Given the description of an element on the screen output the (x, y) to click on. 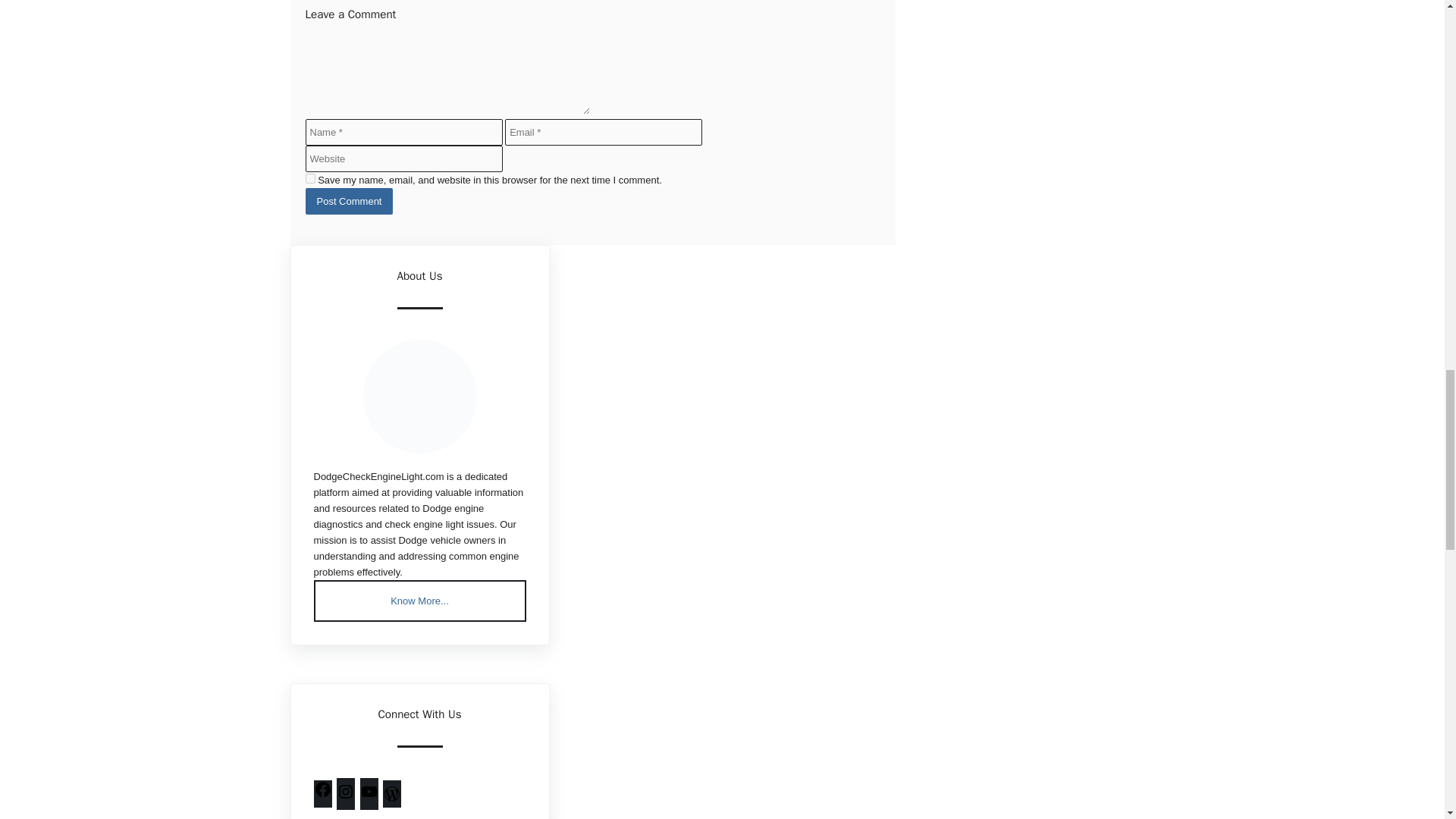
team (419, 396)
WordPress (391, 799)
Facebook (322, 794)
YouTube (368, 797)
yes (309, 178)
Post Comment (348, 201)
Instagram (345, 797)
Know More... (419, 600)
Post Comment (348, 201)
